Given the description of an element on the screen output the (x, y) to click on. 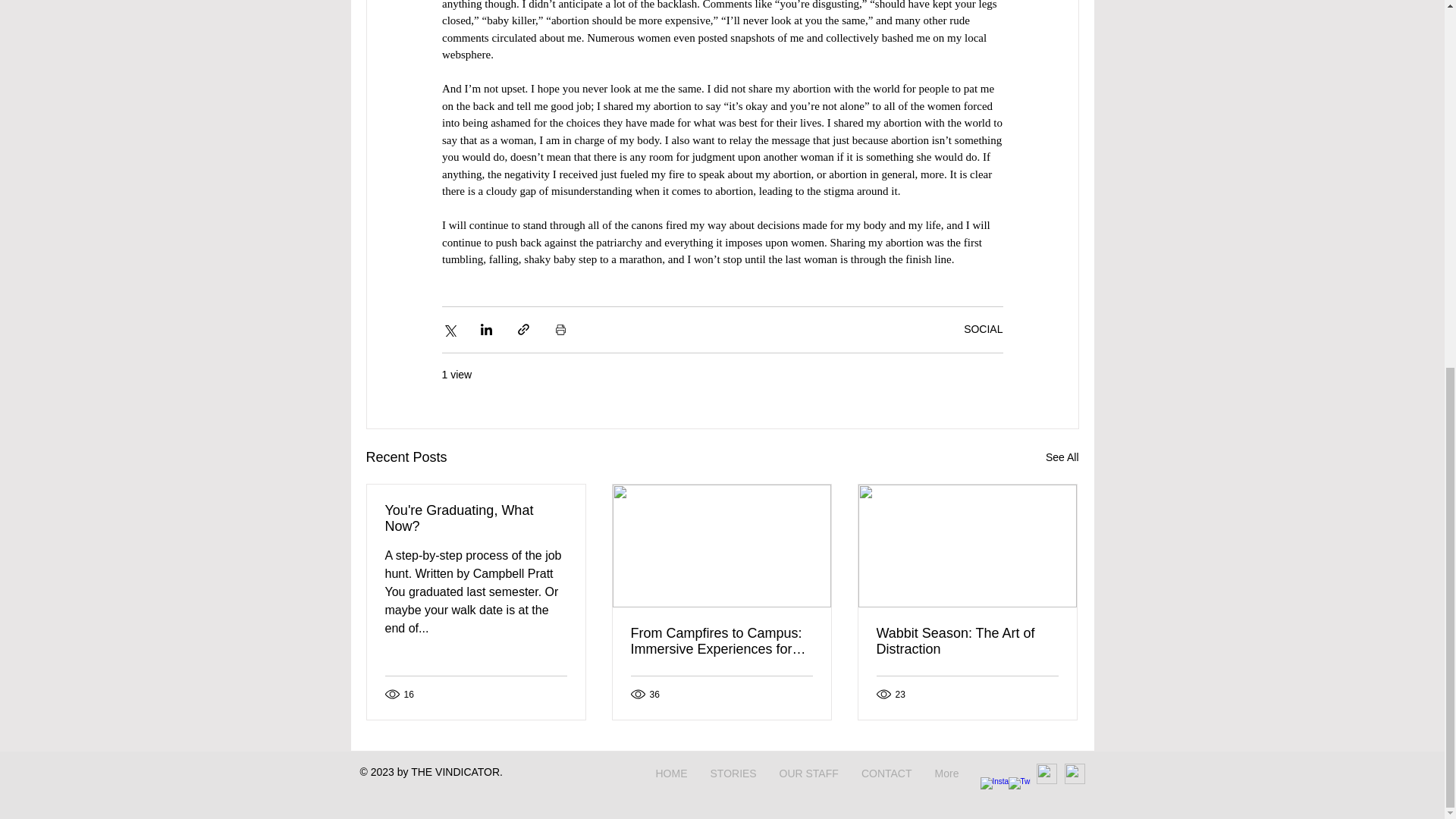
From Campfires to Campus: Immersive Experiences for Success (721, 640)
CONTACT (885, 773)
You're Graduating, What Now? (476, 517)
THE VINDICATOR (454, 771)
SOCIAL (983, 328)
Wabbit Season: The Art of Distraction (967, 640)
STORIES (733, 773)
See All (1061, 456)
OUR STAFF (807, 773)
HOME (671, 773)
